Given the description of an element on the screen output the (x, y) to click on. 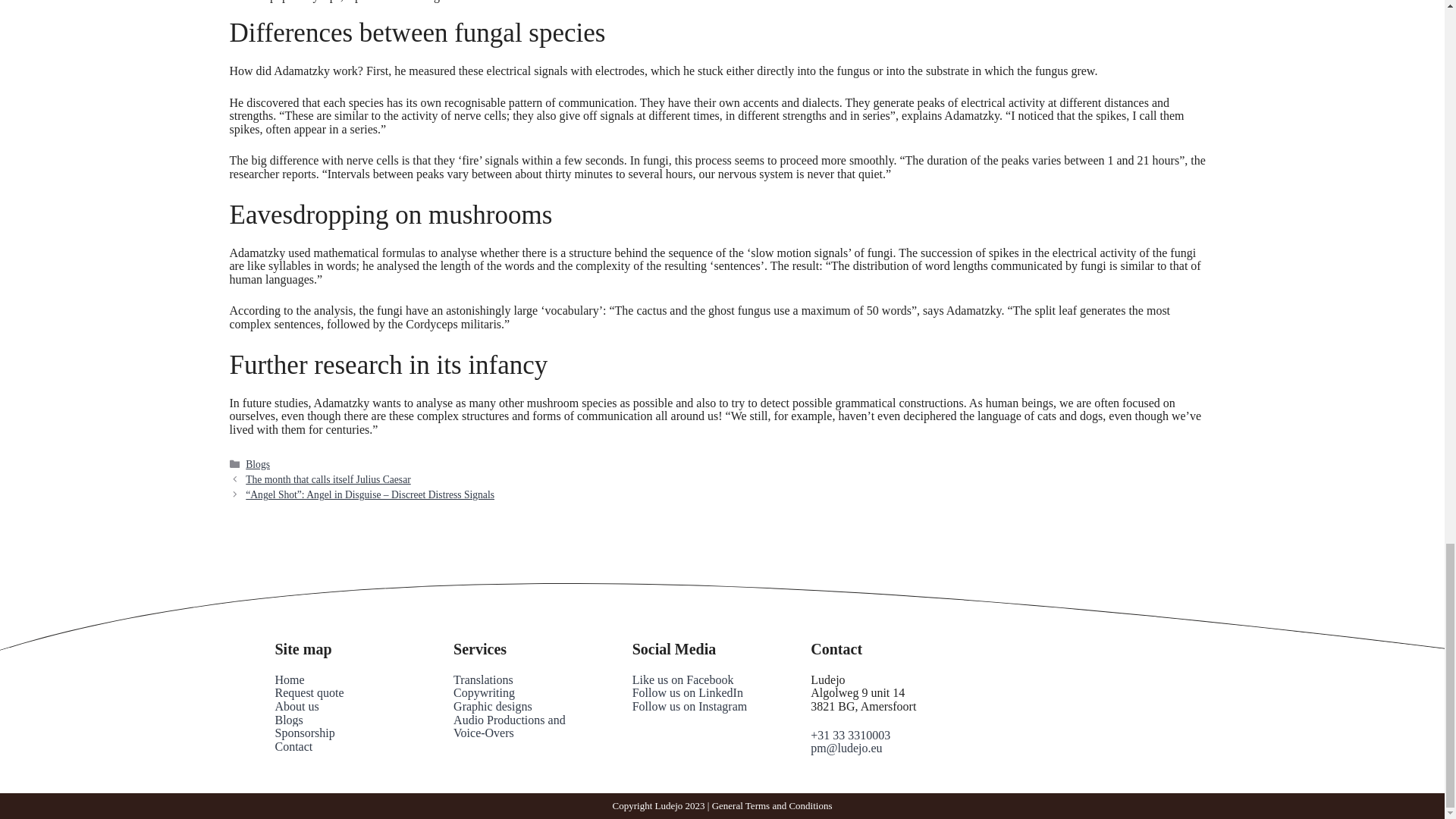
The month that calls itself Julius Caesar (328, 479)
Audio Productions and Voice-Overs (509, 726)
Follow us on Instagram (689, 706)
Contact (294, 746)
About us (296, 706)
Request quote (309, 692)
Copywriting (483, 692)
Sponsorship (304, 732)
Translations (482, 679)
Graphic designs (492, 706)
